Given the description of an element on the screen output the (x, y) to click on. 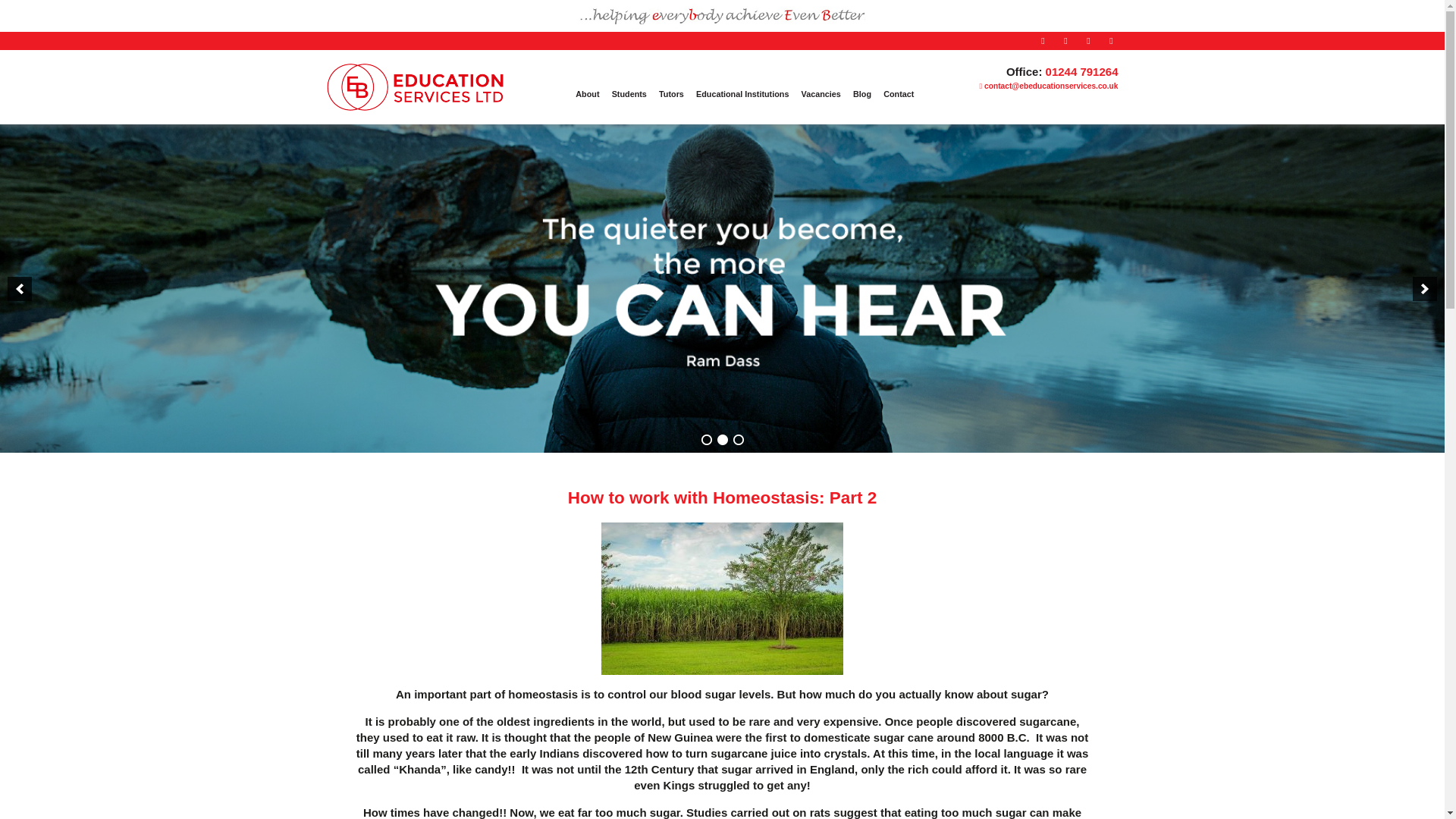
Find us on facebook (1042, 40)
Follow us on twitter (1065, 40)
Follow us on Instagram (1088, 40)
Join us on linkedin (1110, 40)
About (587, 93)
EB Education Services Ltd (414, 103)
